Given the description of an element on the screen output the (x, y) to click on. 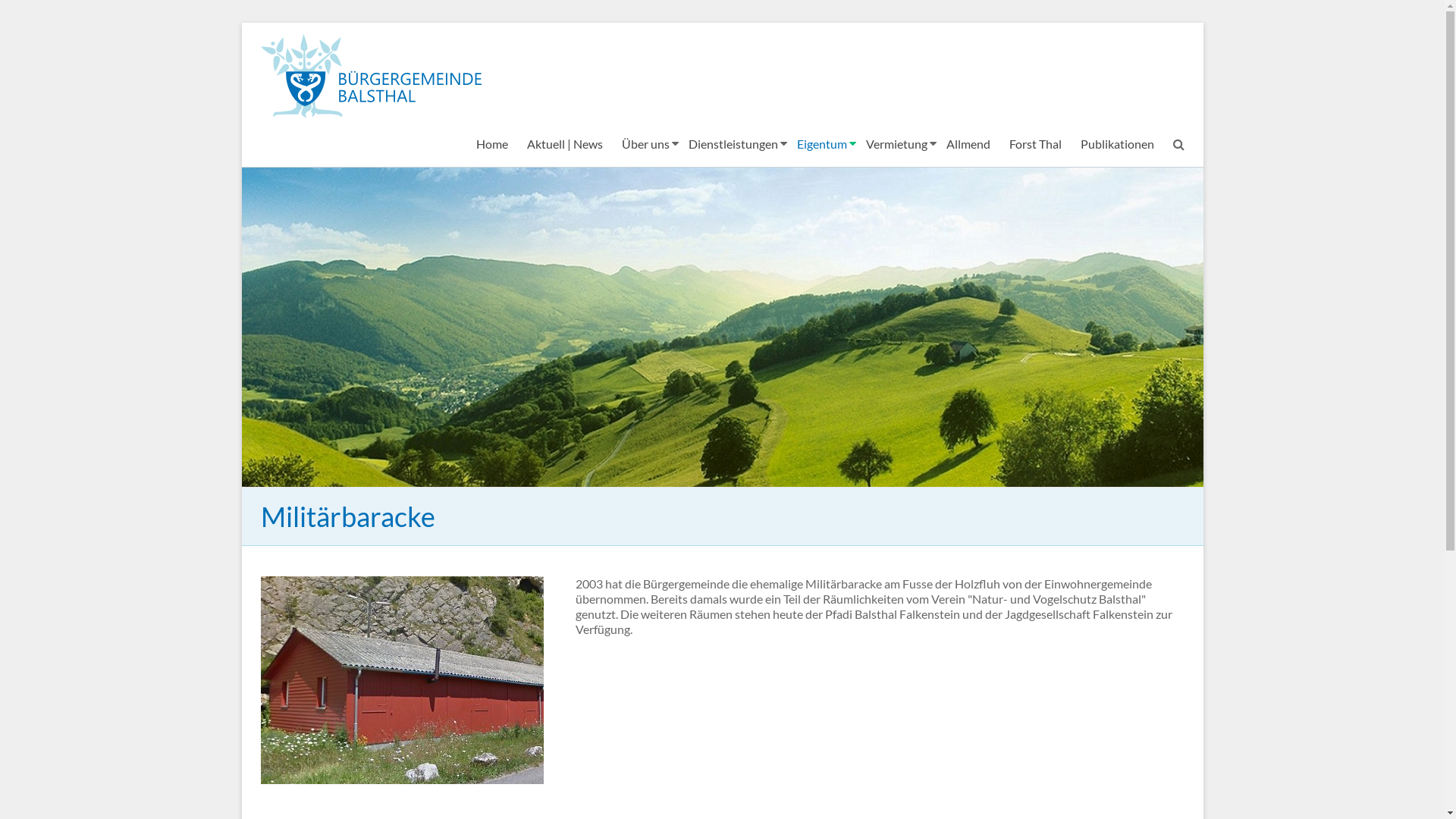
Dienstleistungen Element type: text (733, 143)
Aktuell | News Element type: text (564, 143)
Publikationen Element type: text (1116, 143)
Forst Thal Element type: text (1034, 143)
Eigentum Element type: text (821, 143)
Home Element type: text (492, 143)
militaebaracke_page Element type: hover (401, 680)
Allmend Element type: text (968, 143)
Zum Inhalt springen Element type: text (241, 21)
Vermietung Element type: text (896, 143)
